Given the description of an element on the screen output the (x, y) to click on. 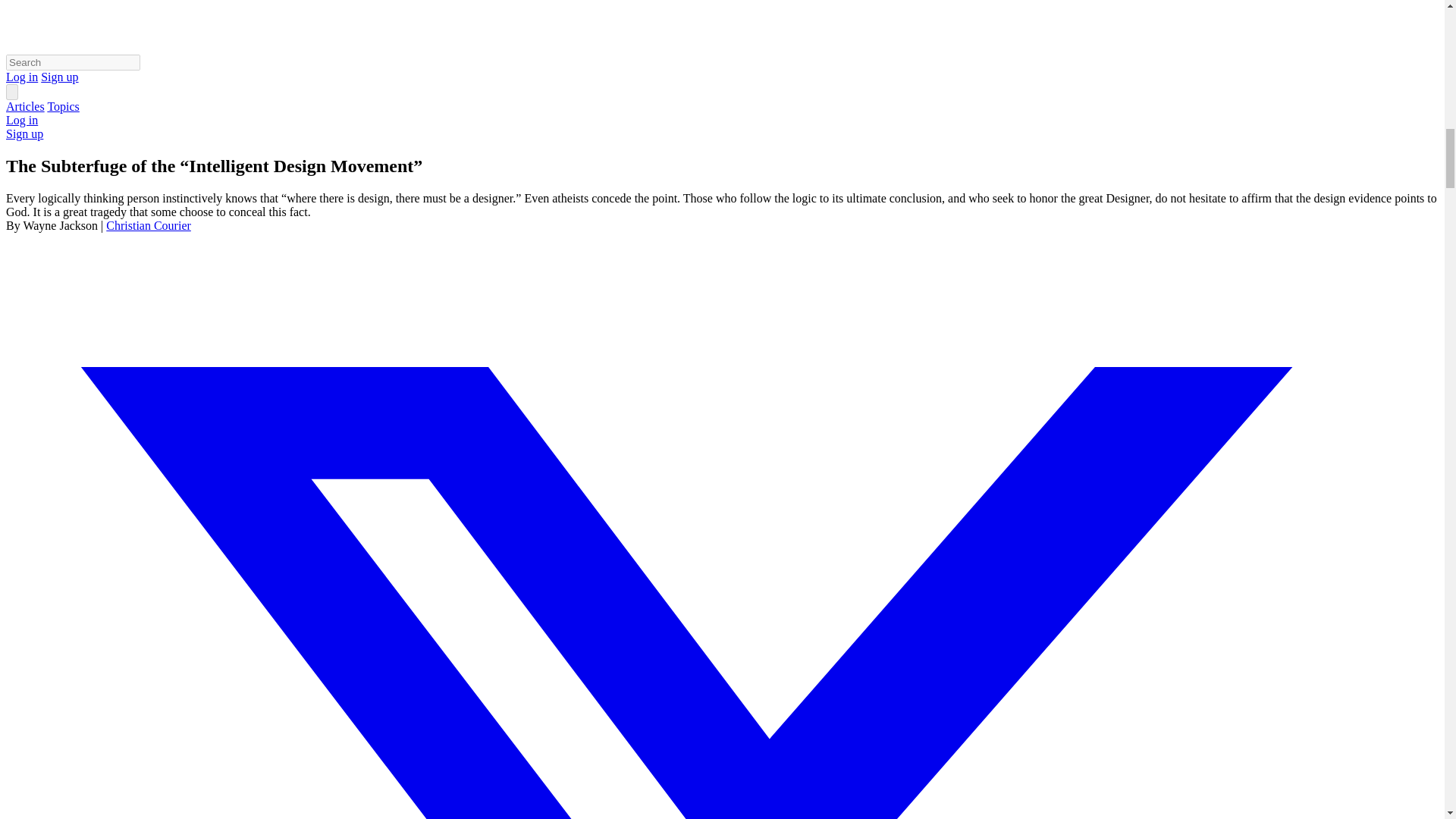
Articles (25, 106)
Topics (62, 106)
Sign up (24, 133)
Christian Courier (148, 225)
Sign up (59, 76)
Log in (21, 119)
Log in (21, 76)
